Given the description of an element on the screen output the (x, y) to click on. 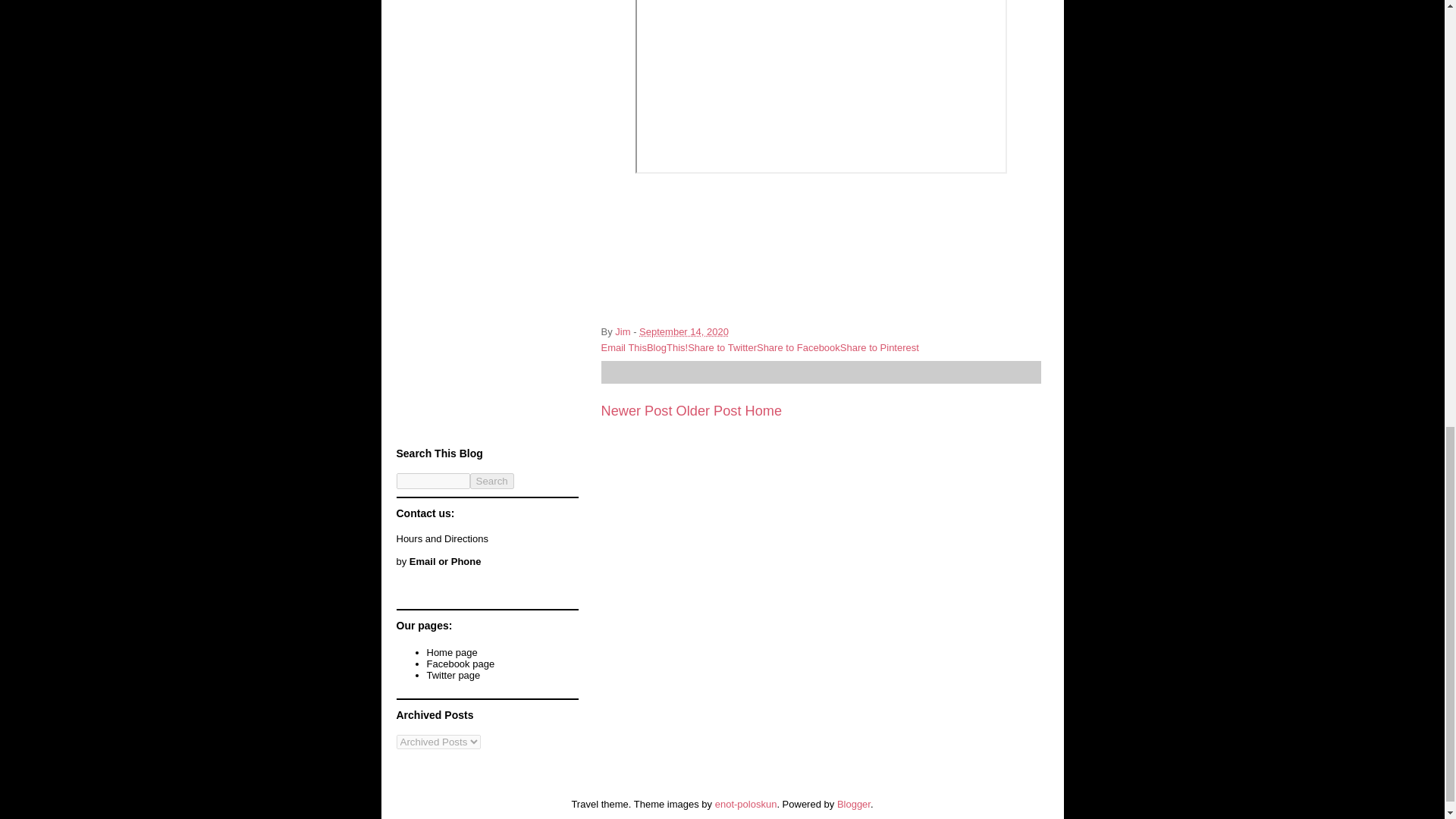
Share to Facebook (798, 347)
Email This (622, 347)
Search (491, 480)
September 14, 2020 (684, 331)
Search (491, 480)
Newer Post (635, 410)
Share to Pinterest (879, 347)
Jim (623, 331)
Newer Post (635, 410)
Facebook page (460, 663)
Home page (451, 652)
Search (491, 480)
BlogThis! (666, 347)
Hours and Directions (441, 538)
Share to Pinterest (879, 347)
